Given the description of an element on the screen output the (x, y) to click on. 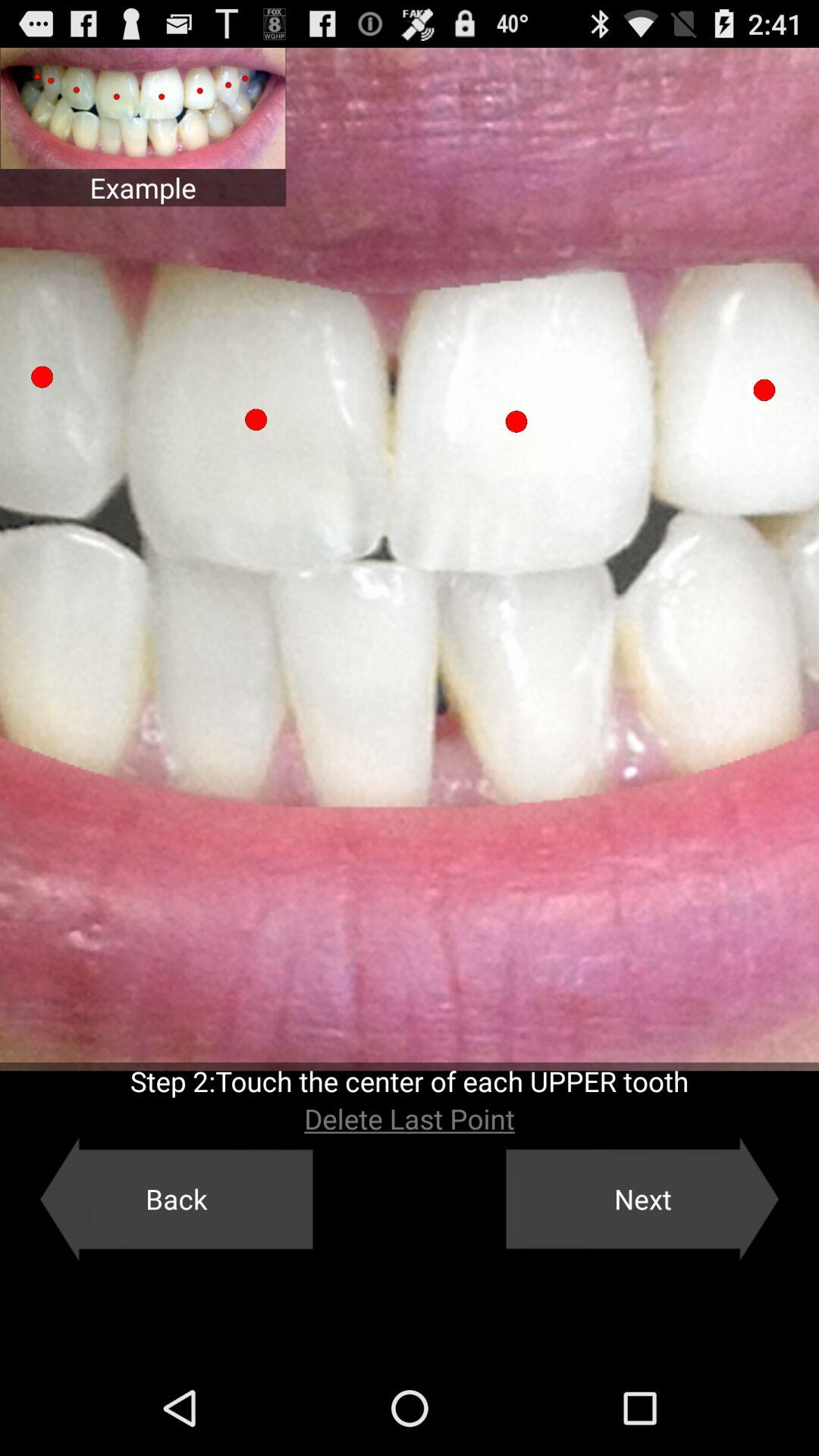
turn on item at the bottom left corner (175, 1198)
